Given the description of an element on the screen output the (x, y) to click on. 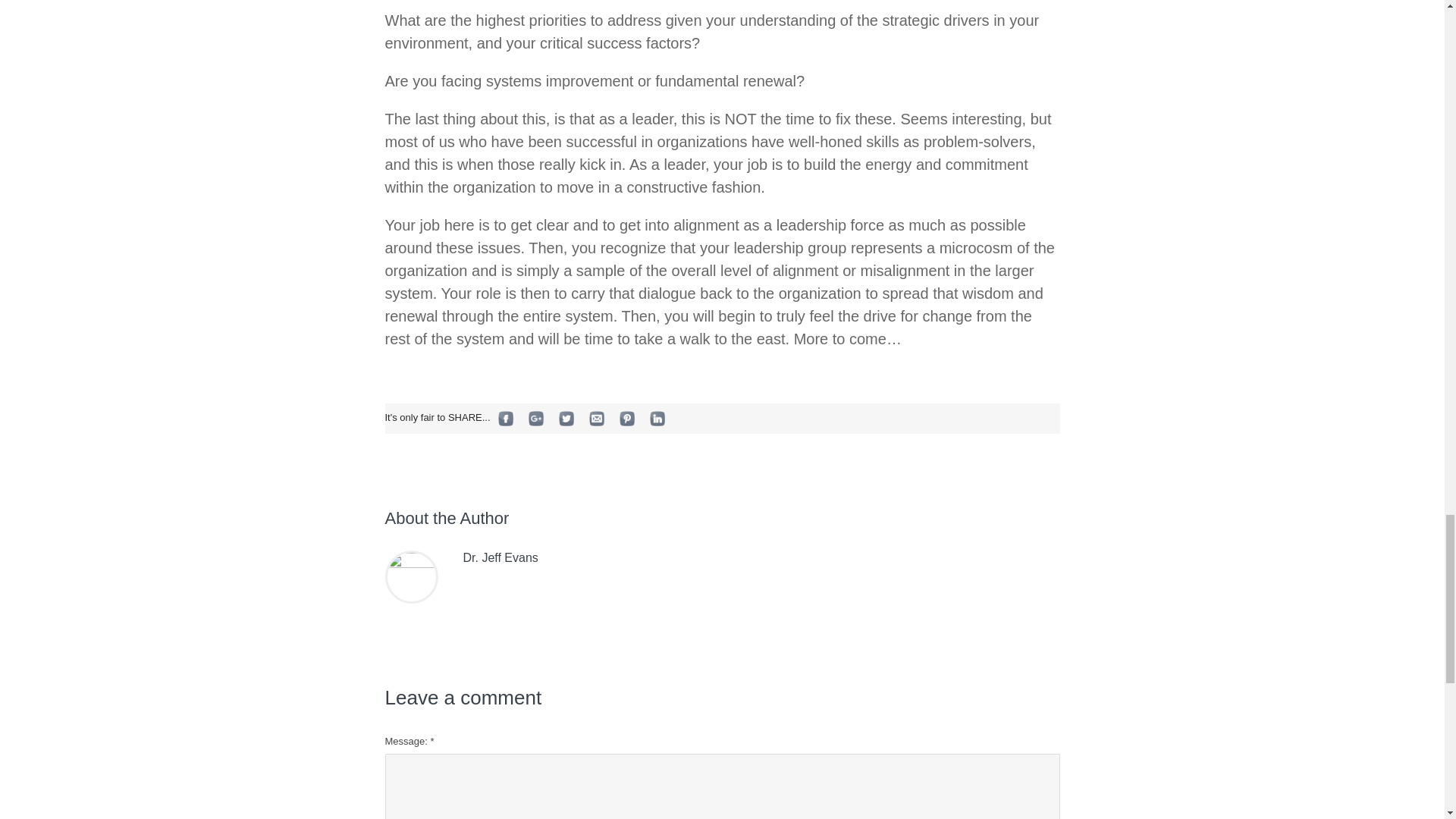
email (595, 418)
linkedin (657, 418)
pinterest (626, 418)
google (536, 418)
twitter (565, 418)
facebook (505, 418)
